Given the description of an element on the screen output the (x, y) to click on. 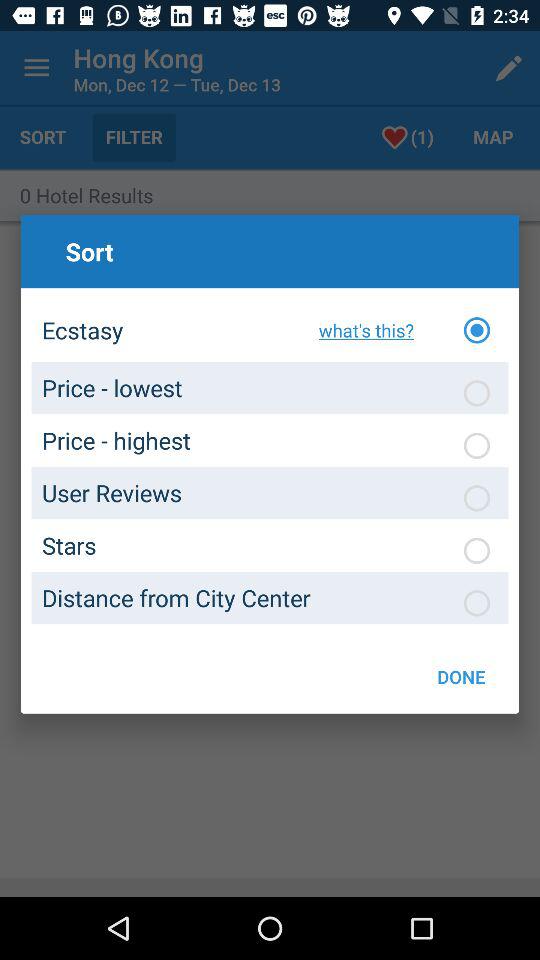
find user reviews (477, 498)
